Given the description of an element on the screen output the (x, y) to click on. 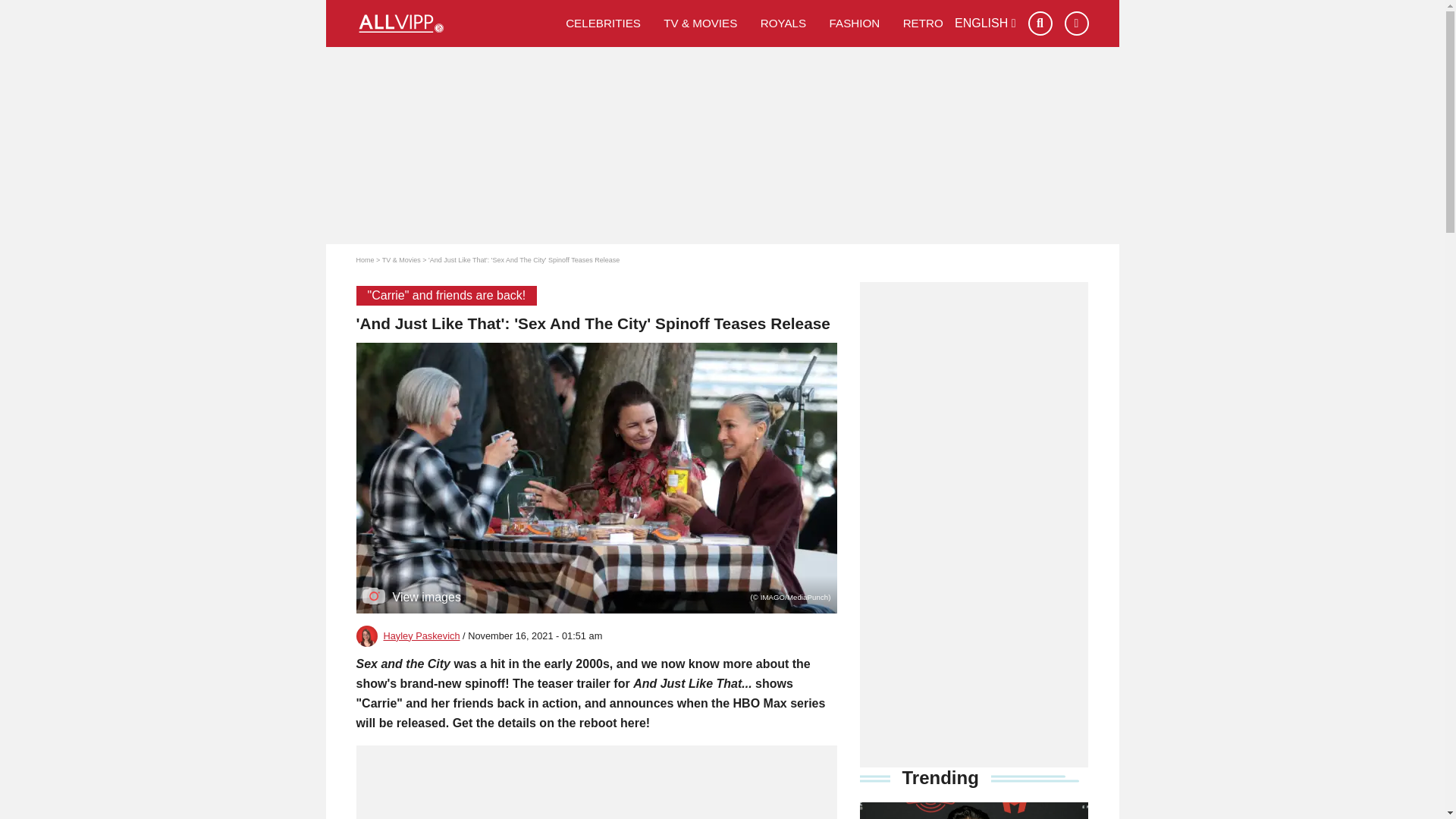
Royals (783, 23)
Celebrities (603, 23)
RETRO (923, 23)
ENGLISH  (985, 22)
Search (1039, 23)
Fashion (853, 23)
Hayley Paskevich (422, 635)
VIP News I Up close with your favorite Celebs on Allvipp.com (455, 23)
Retro (923, 23)
FASHION (853, 23)
CELEBRITIES (603, 23)
ROYALS (783, 23)
Home (365, 259)
